Given the description of an element on the screen output the (x, y) to click on. 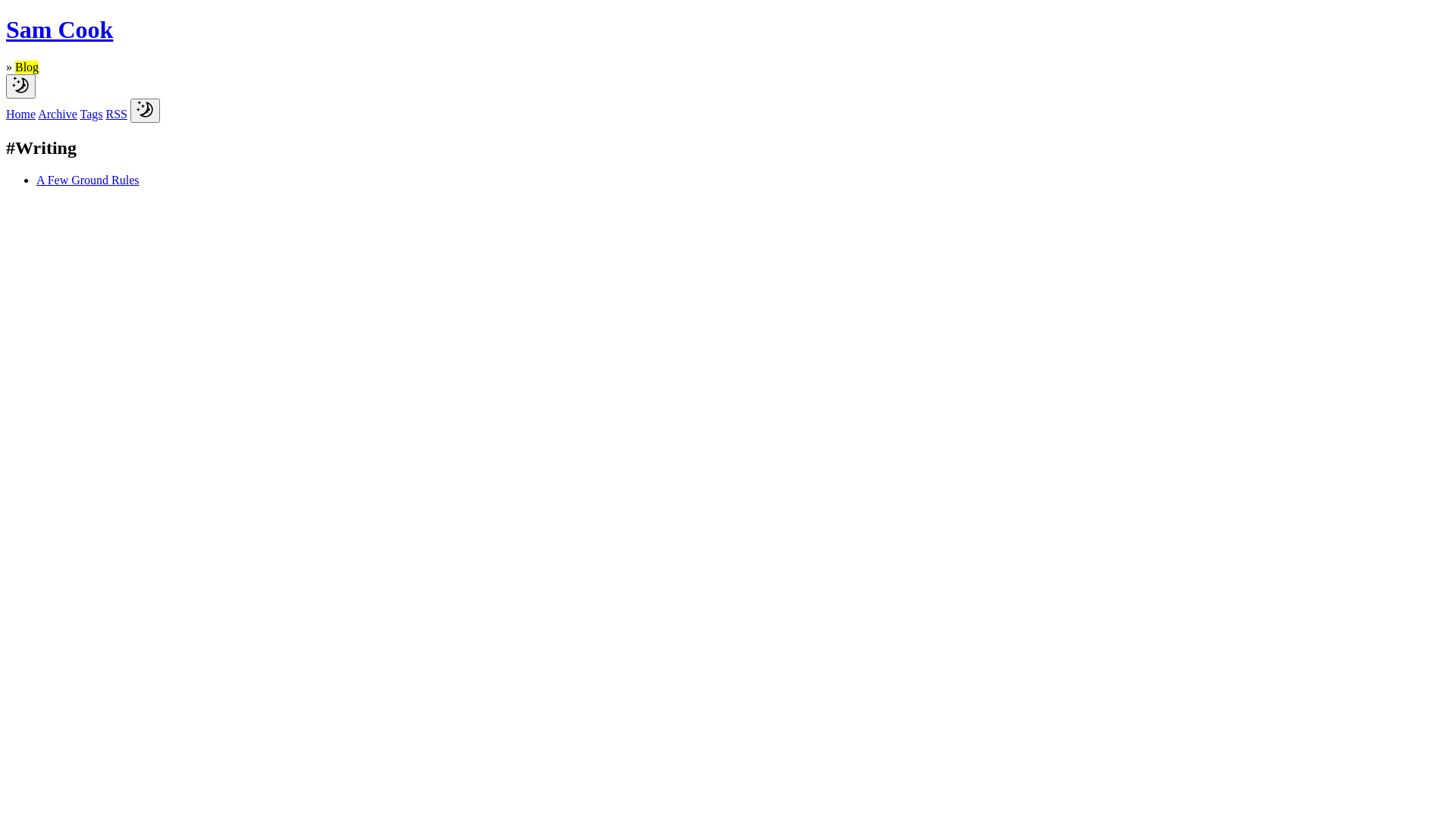
Sam Cook Element type: text (727, 43)
A Few Ground Rules Element type: text (87, 179)
Home Element type: text (20, 113)
Tags Element type: text (90, 113)
RSS Element type: text (115, 113)
Archive Element type: text (57, 113)
